Given the description of an element on the screen output the (x, y) to click on. 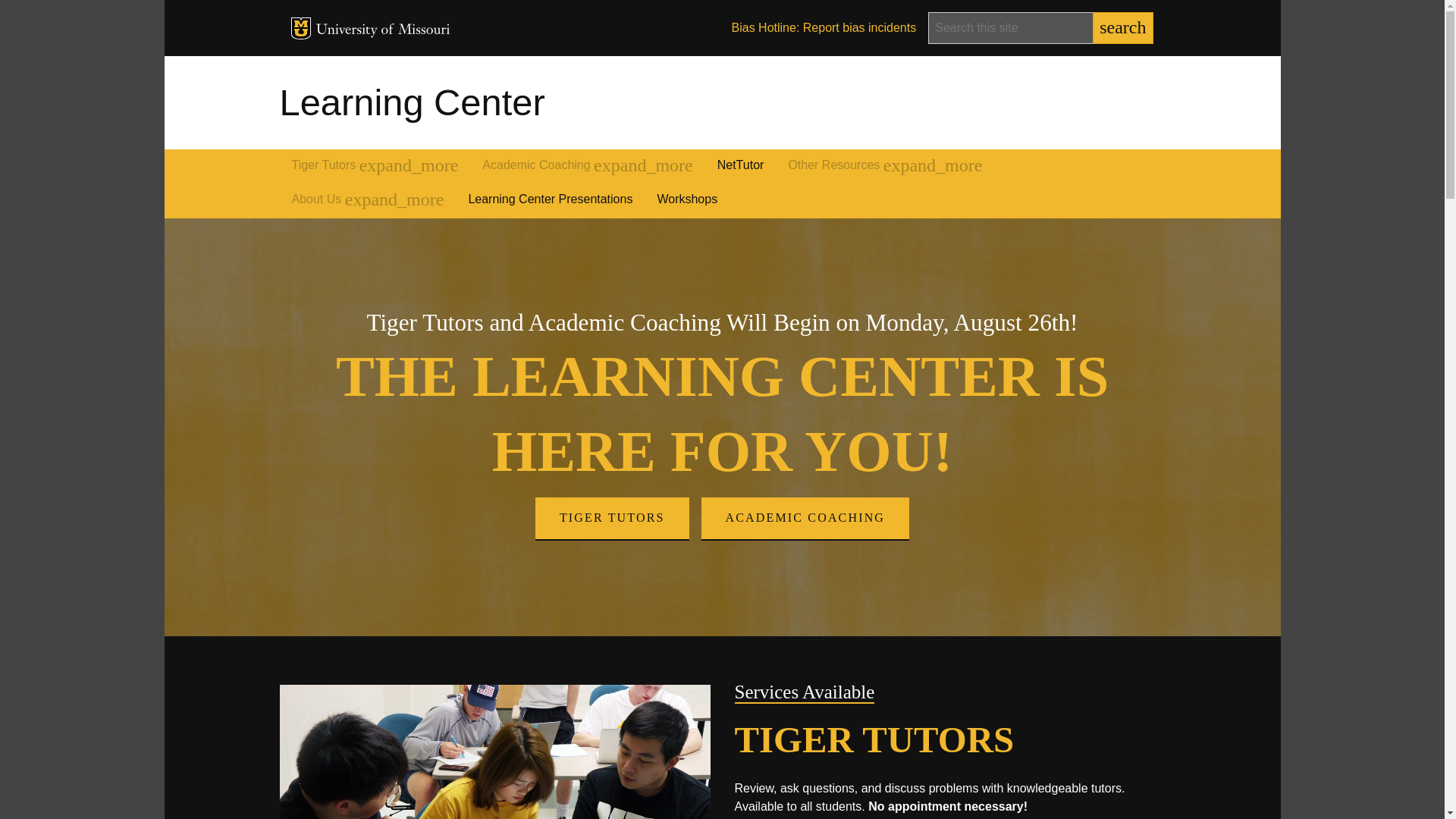
University of Missouri (382, 30)
search (1123, 28)
Learning Center Presentations (550, 200)
Learning Center (411, 101)
Bias Hotline: Report bias incidents (823, 28)
Workshops (687, 200)
Learning Center (411, 101)
TIGER TUTORS (611, 517)
NetTutor (740, 166)
MU Logo (301, 27)
